Given the description of an element on the screen output the (x, y) to click on. 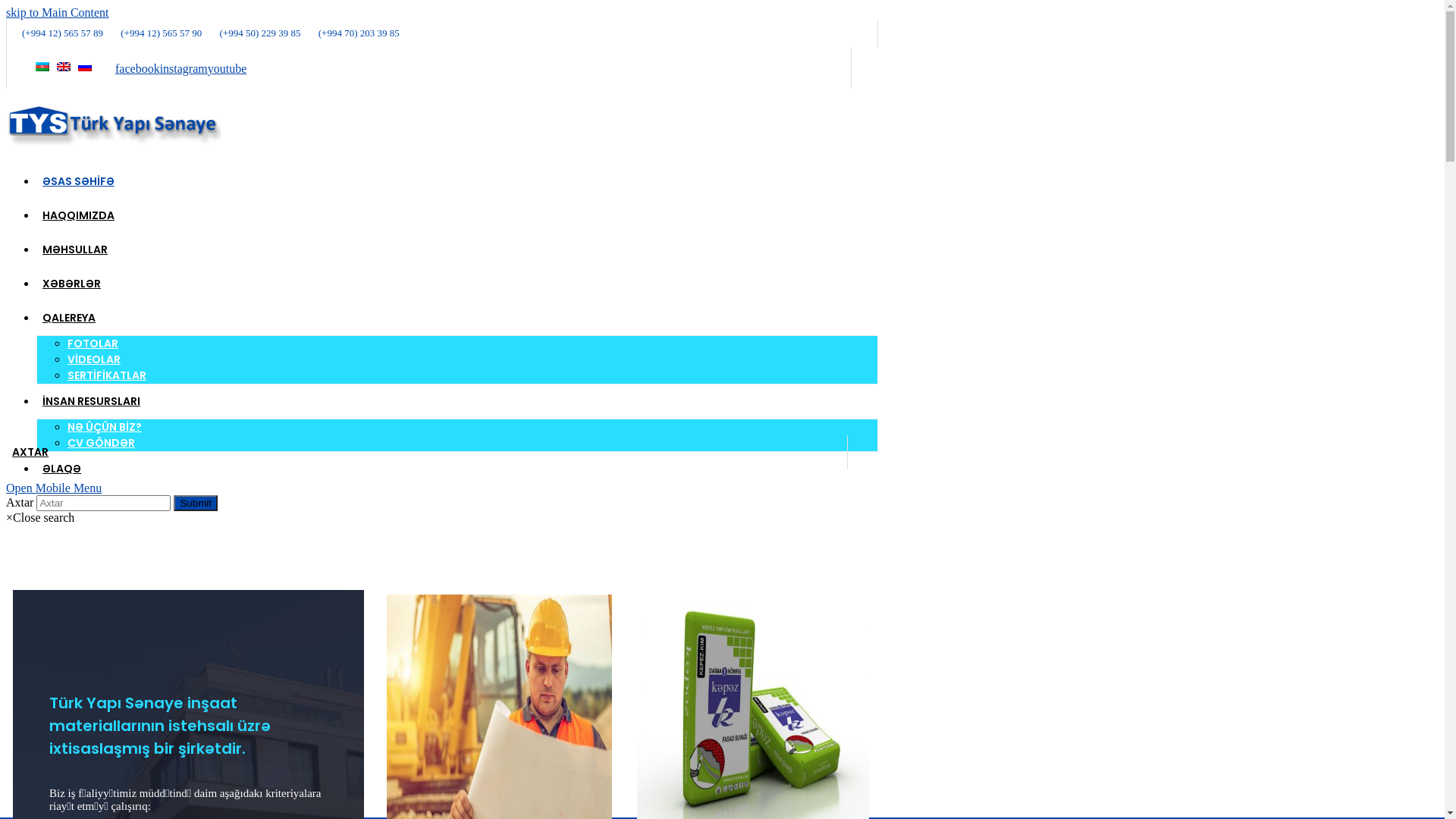
skip to Main Content Element type: text (57, 12)
VIDEOLAR Element type: text (93, 359)
Submit Element type: text (194, 503)
Open Mobile Menu Element type: text (53, 487)
QALEREYA Element type: text (68, 317)
(+994 12) 565 57 90 Element type: text (153, 32)
SERTIFIKATLAR Element type: text (106, 374)
youtube Element type: text (227, 68)
(+994 12) 565 57 89 Element type: text (54, 32)
(+994 50) 229 39 85 Element type: text (252, 32)
facebook Element type: text (137, 68)
FOTOLAR Element type: text (92, 343)
(+994 70) 203 39 85 Element type: text (351, 32)
English Element type: hover (63, 66)
HAQQIMIZDA Element type: text (78, 215)
AXTAR Element type: text (30, 452)
instagram Element type: text (183, 68)
